Given the description of an element on the screen output the (x, y) to click on. 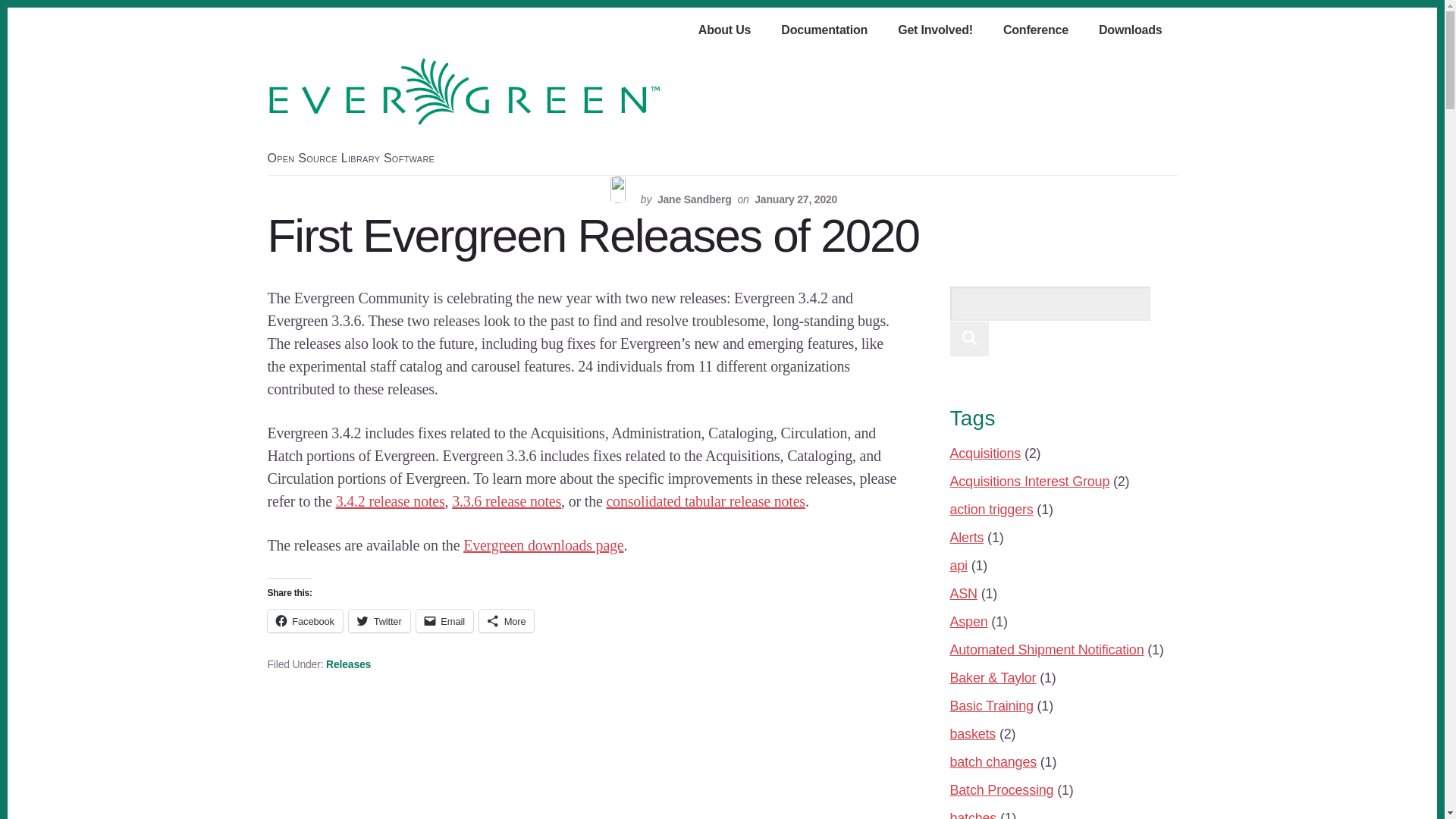
Documentation (823, 31)
Get Involved! (935, 31)
About Us (724, 31)
Downloads (1131, 31)
Click to share on Twitter (379, 620)
Click to email a link to a friend (444, 620)
Click to share on Facebook (304, 620)
Jane Sandberg (694, 199)
Conference (1035, 31)
